Given the description of an element on the screen output the (x, y) to click on. 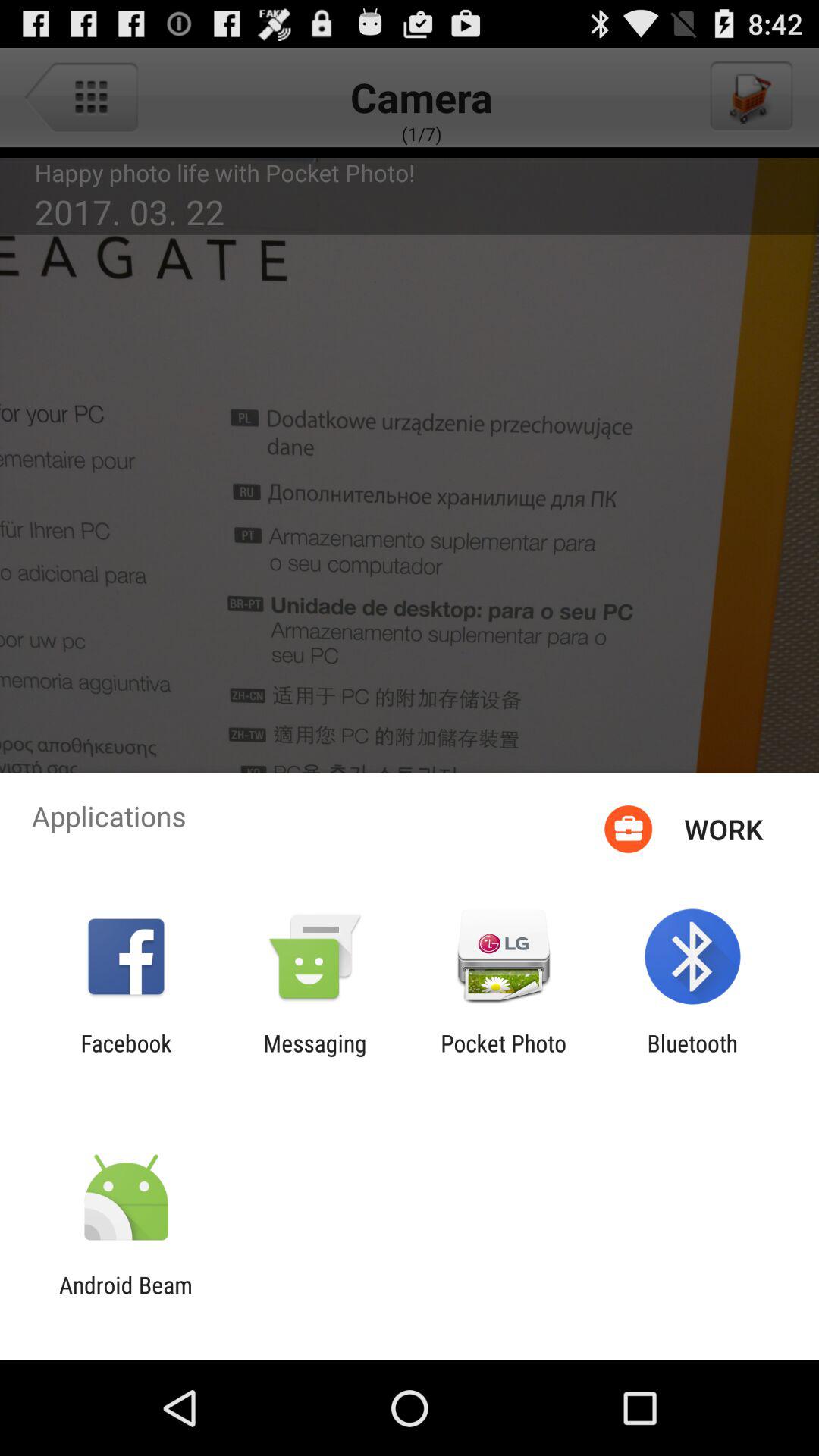
flip until the pocket photo app (503, 1056)
